Given the description of an element on the screen output the (x, y) to click on. 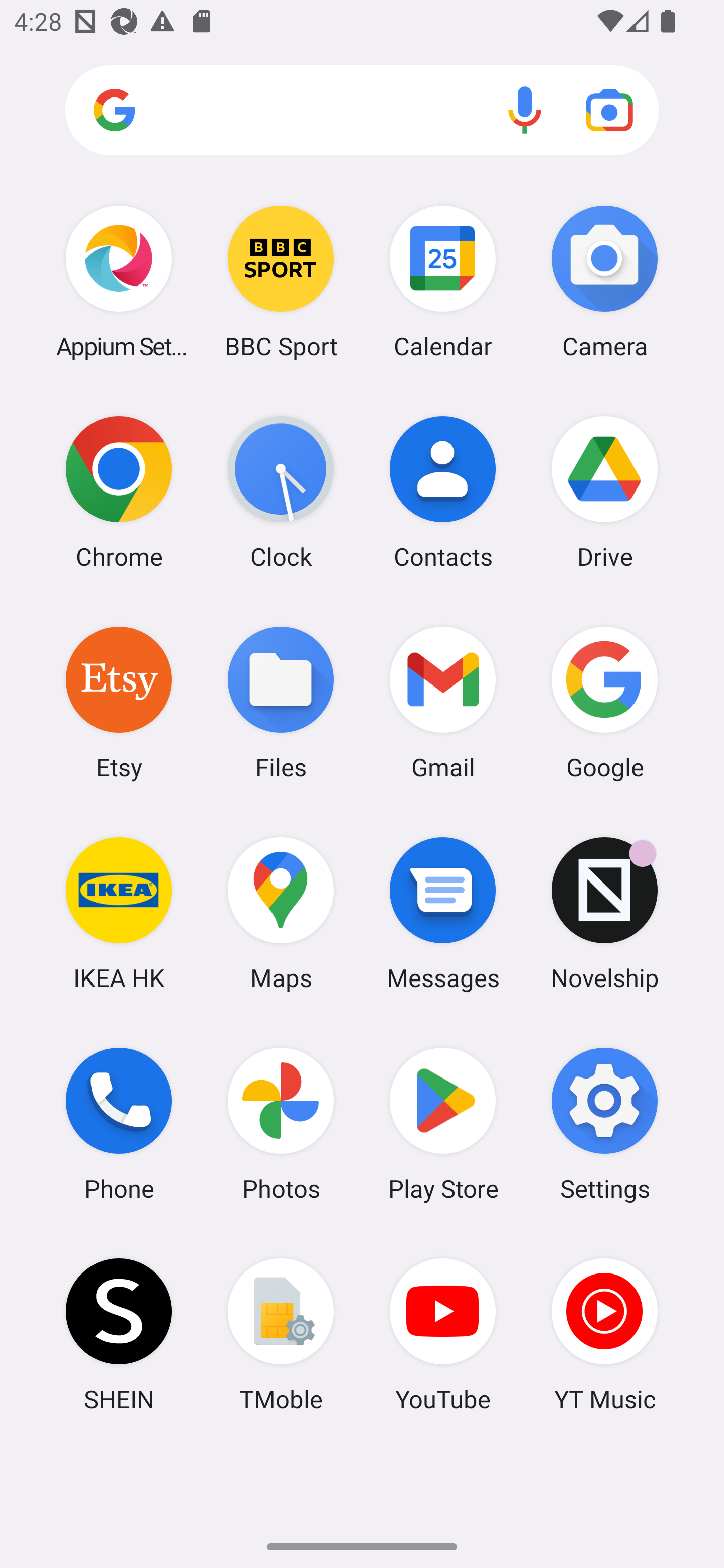
Search apps, web and more (361, 110)
Voice search (524, 109)
Google Lens (608, 109)
Appium Settings (118, 281)
BBC Sport (280, 281)
Calendar (443, 281)
Camera (604, 281)
Chrome (118, 492)
Clock (280, 492)
Contacts (443, 492)
Drive (604, 492)
Etsy (118, 702)
Files (280, 702)
Gmail (443, 702)
Google (604, 702)
IKEA HK (118, 913)
Maps (280, 913)
Messages (443, 913)
Novelship Novelship has 6 notifications (604, 913)
Phone (118, 1124)
Photos (280, 1124)
Play Store (443, 1124)
Settings (604, 1124)
SHEIN (118, 1334)
TMoble (280, 1334)
YouTube (443, 1334)
YT Music (604, 1334)
